Given the description of an element on the screen output the (x, y) to click on. 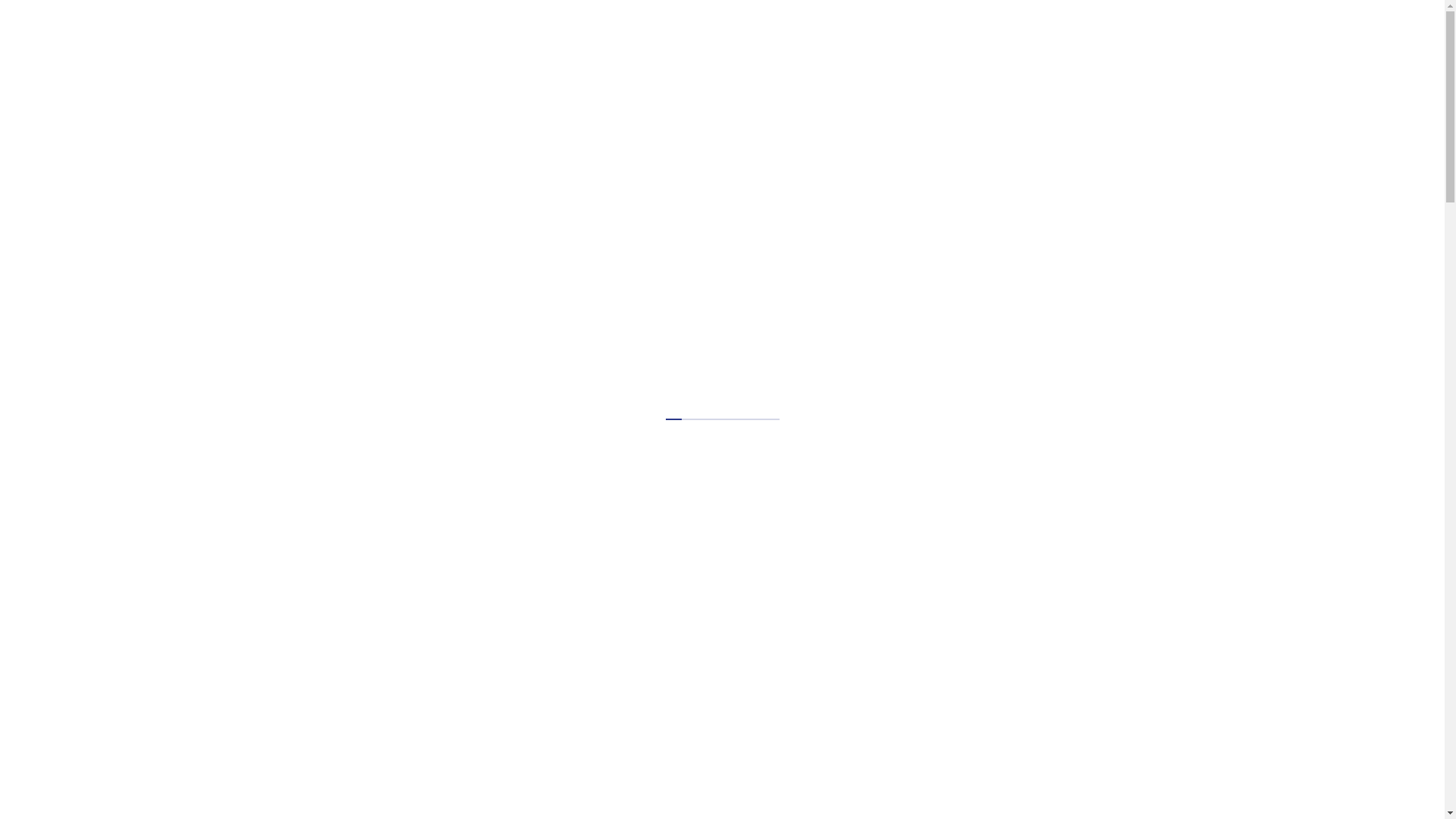
News Element type: text (738, 99)
CONTACT US Element type: text (915, 37)
Family Law Element type: text (538, 99)
PARENTING MATTERS Element type: text (370, 605)
1300 190 542 Element type: text (1029, 37)
PROPERTY SETTLEMENT Element type: text (377, 652)
ENQUIRE NOW Element type: text (1155, 36)
NEWS Element type: text (760, 37)
OUR FEES Element type: text (693, 37)
Employment Law Element type: text (286, 99)
Commercial Law Element type: text (422, 99)
OUR TEAM Element type: text (827, 37)
Property Law Element type: text (646, 99)
